Given the description of an element on the screen output the (x, y) to click on. 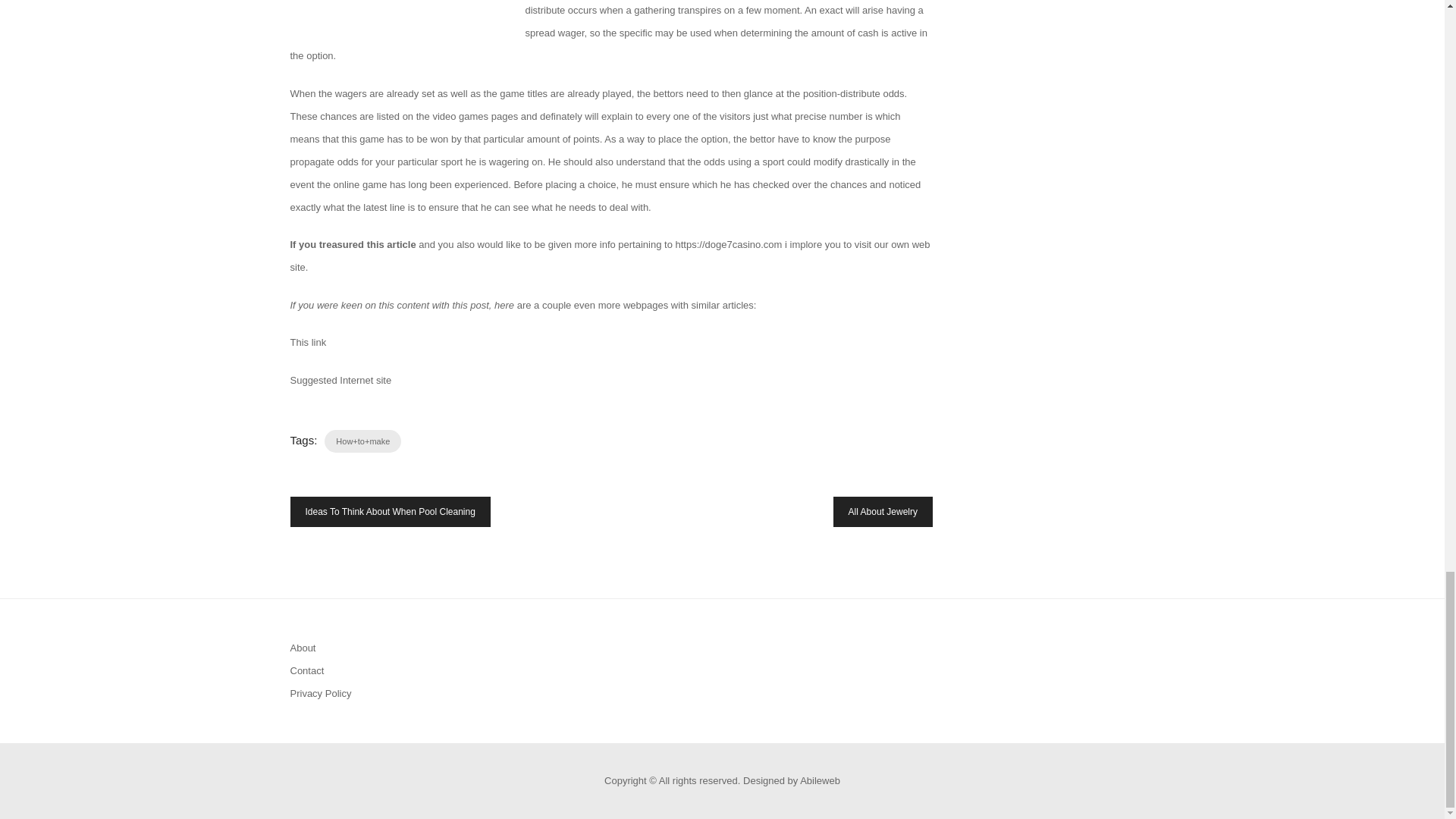
Ideas To Think About When Pool Cleaning (389, 511)
Privacy Policy (319, 693)
About (302, 647)
gathering transpires (676, 9)
Contact (306, 670)
Designed by Abileweb (791, 780)
Suggested Internet site (340, 379)
All About Jewelry (882, 511)
This link (307, 342)
